Given the description of an element on the screen output the (x, y) to click on. 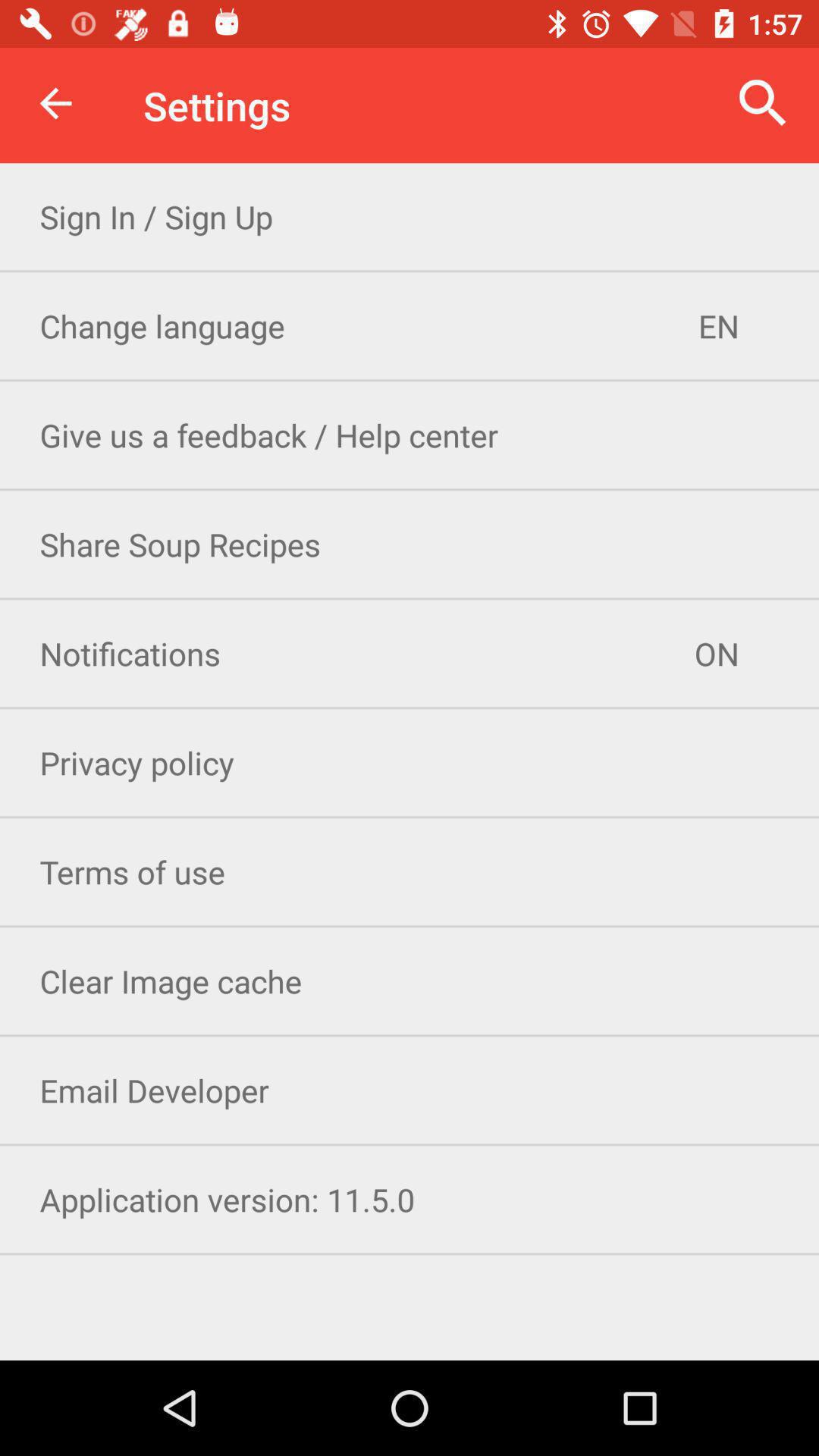
swipe to the application version 11 icon (409, 1199)
